Given the description of an element on the screen output the (x, y) to click on. 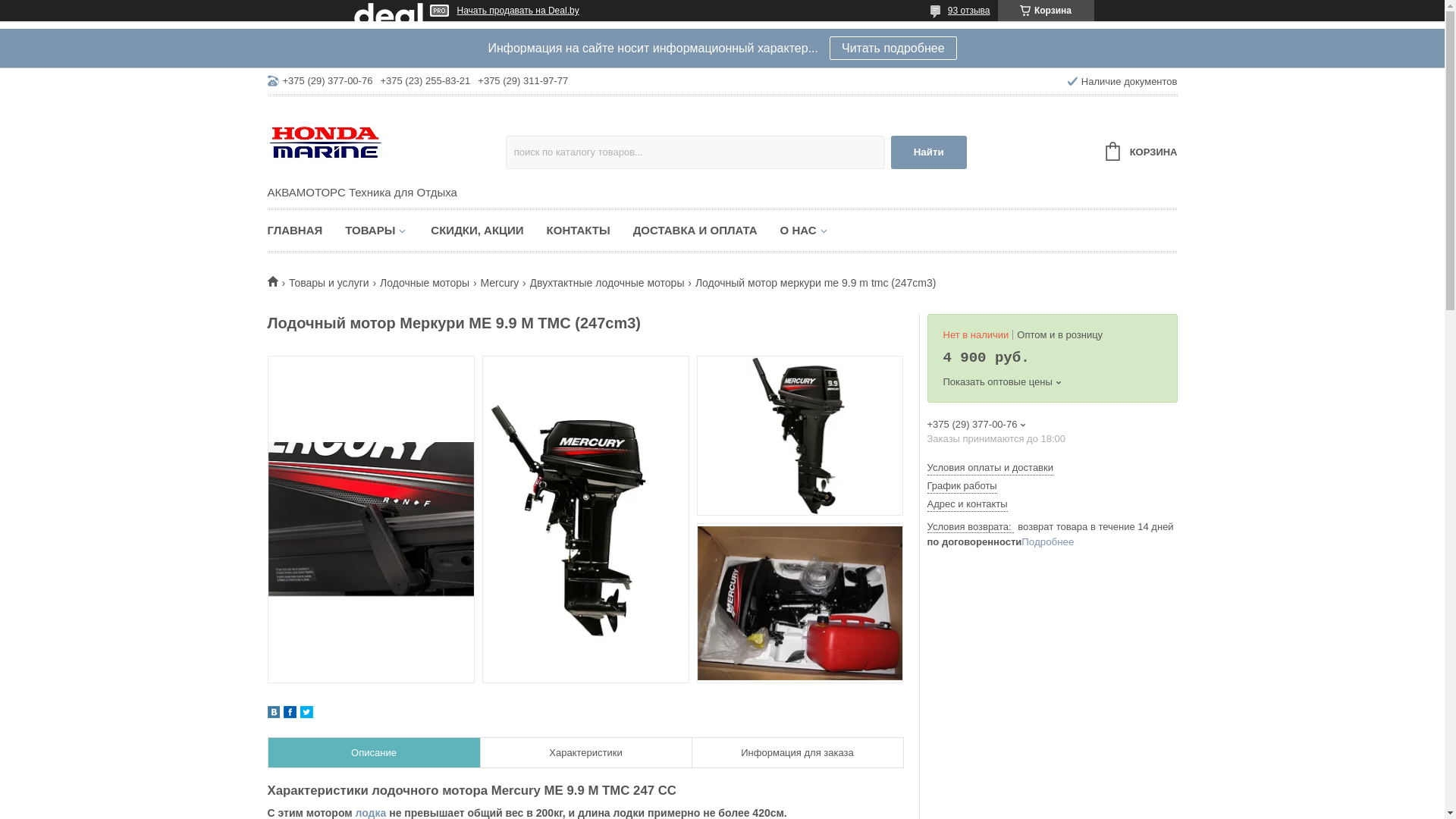
Mercury Element type: text (499, 283)
facebook Element type: hover (289, 714)
twitter Element type: hover (306, 714)
